Given the description of an element on the screen output the (x, y) to click on. 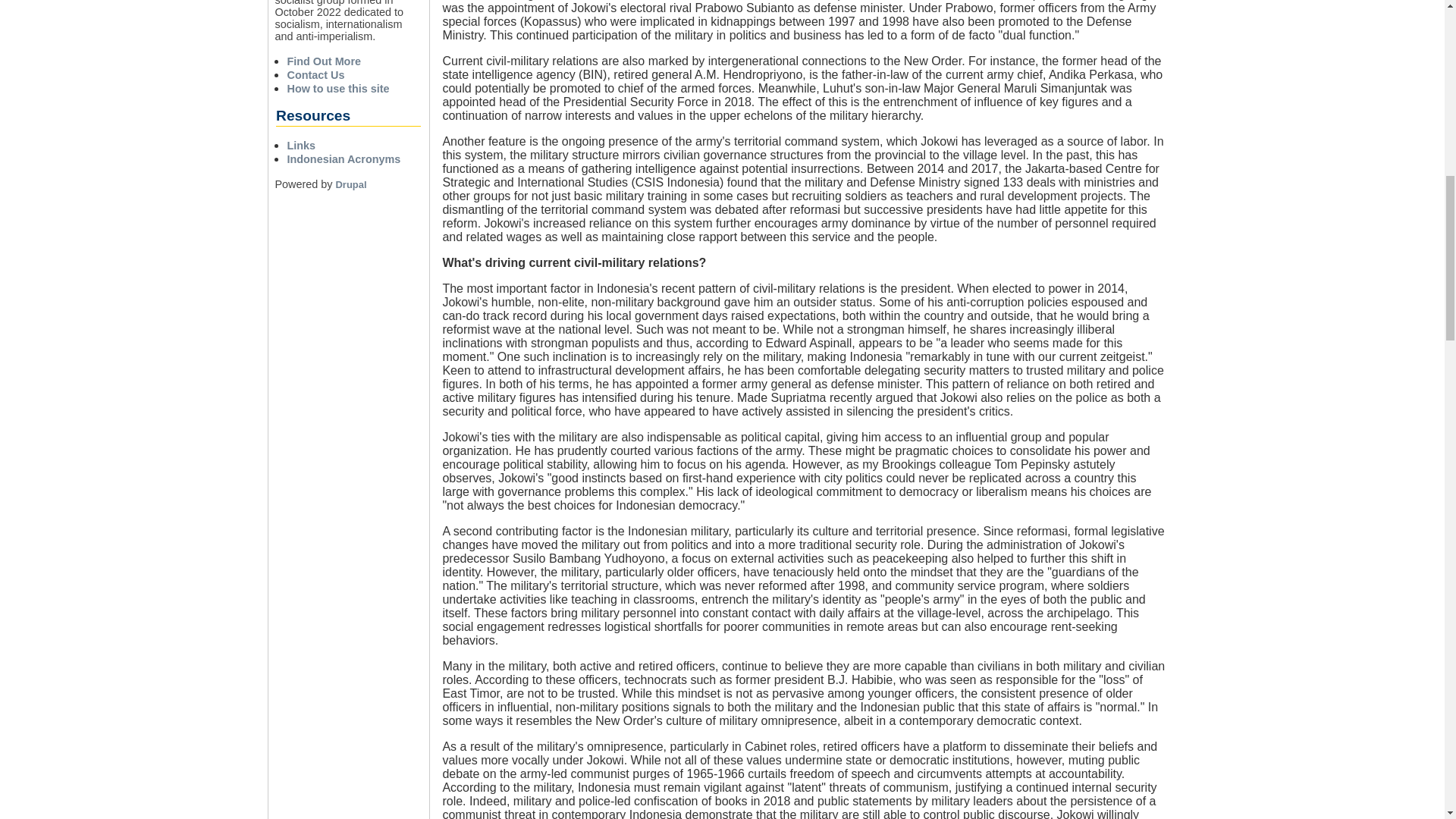
Find Out More (323, 61)
How to use this site (337, 88)
Links (300, 145)
Contact Us (314, 74)
Indonesian Acronyms (343, 159)
Drupal (350, 184)
